Given the description of an element on the screen output the (x, y) to click on. 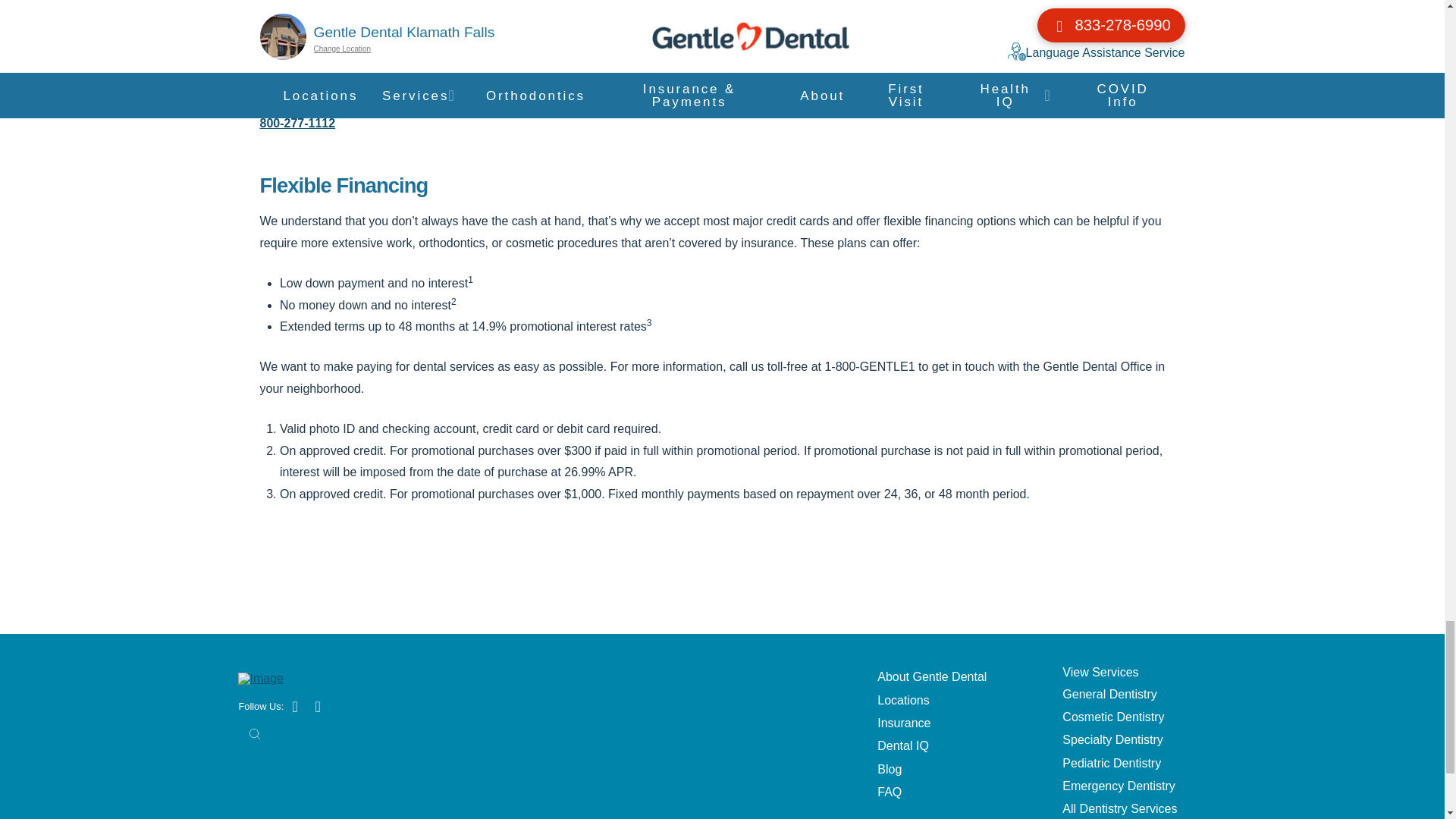
www.gentledentalsmileplan.com (352, 101)
Submit (254, 734)
800-277-1112 (296, 123)
